Given the description of an element on the screen output the (x, y) to click on. 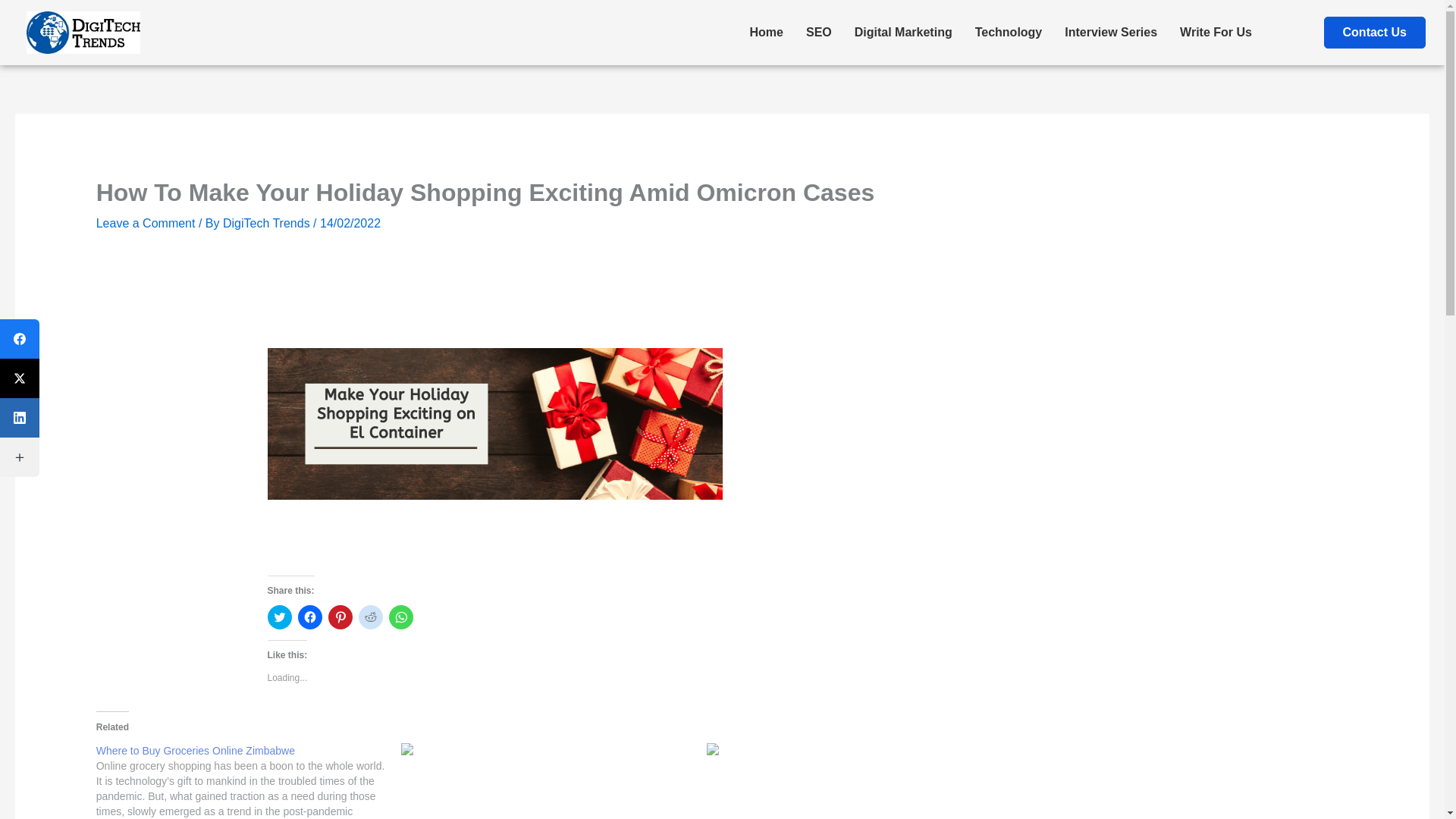
View all posts by DigiTech Trends (267, 223)
Interview Series (1110, 32)
Click to share on Pinterest (339, 617)
DigiTech Trends (267, 223)
Where to Buy Groceries Online Zimbabwe (195, 750)
Click to share on WhatsApp (400, 617)
Click to share on Twitter (278, 617)
Write For Us (1216, 32)
SEO (818, 32)
Where to Buy Groceries Online Zimbabwe (195, 750)
